Given the description of an element on the screen output the (x, y) to click on. 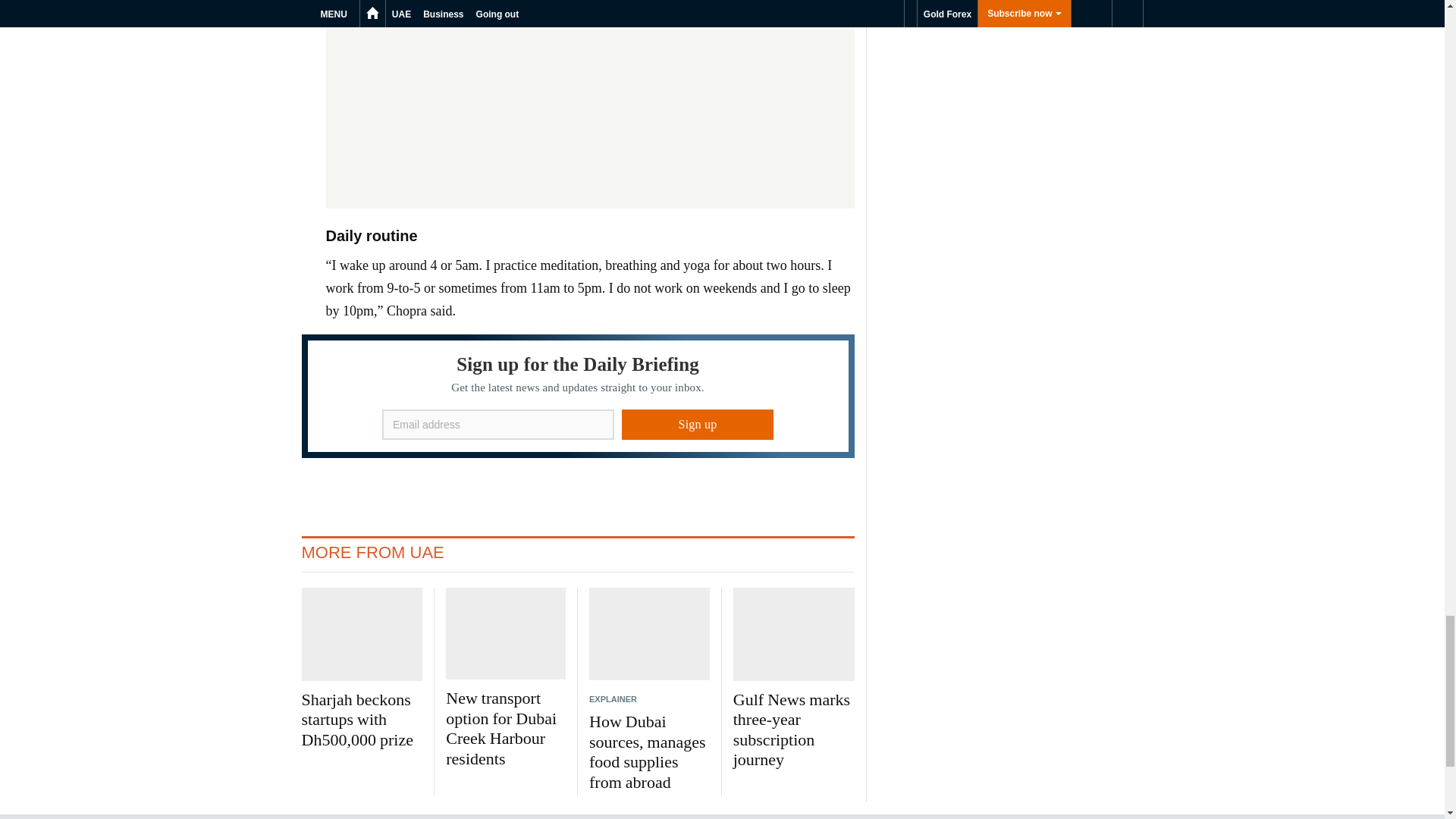
Sign up for the Daily Briefing (577, 395)
